Given the description of an element on the screen output the (x, y) to click on. 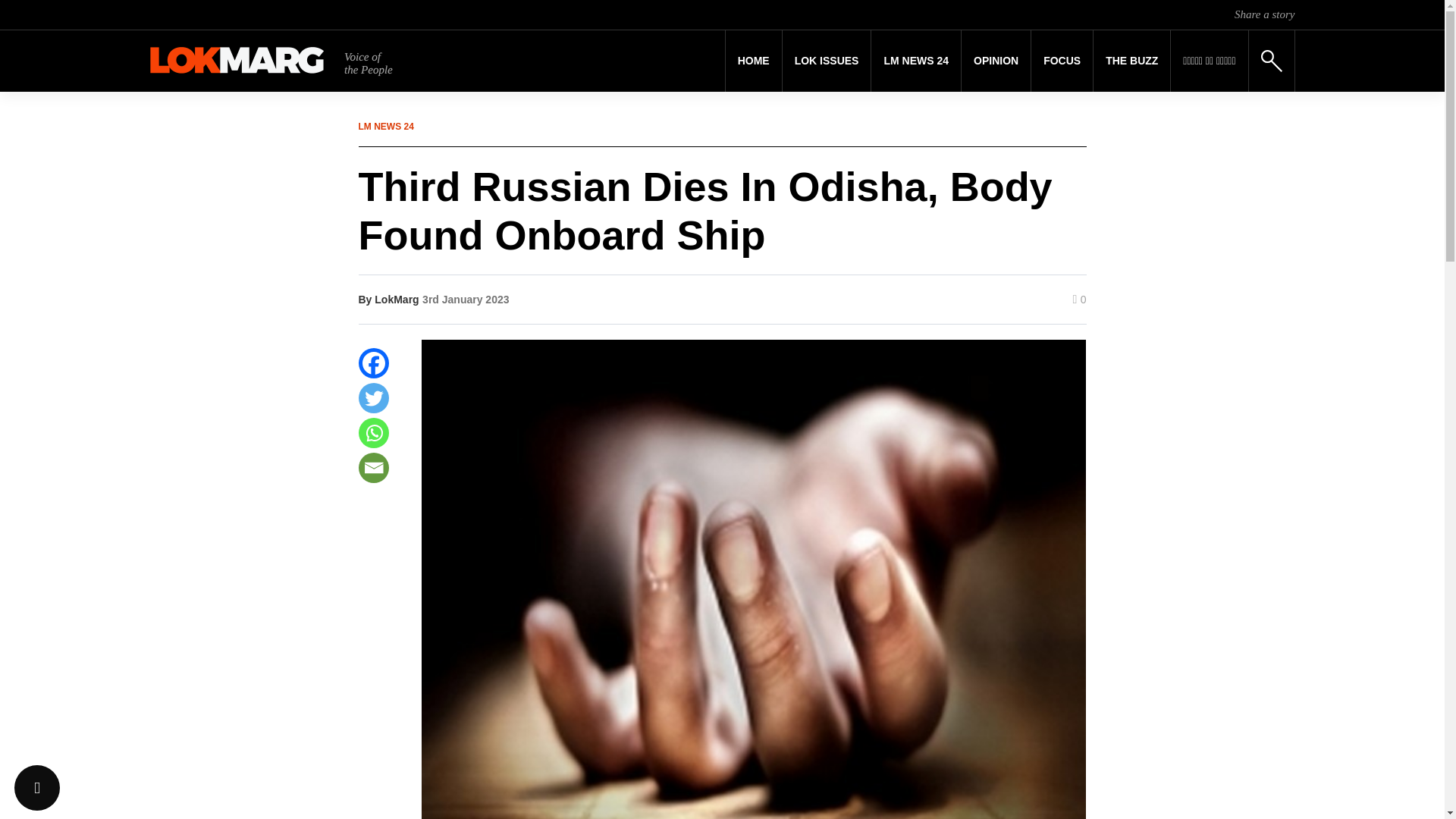
Share a story (1264, 14)
FOCUS (1061, 60)
Home (753, 60)
THE BUZZ (1131, 60)
THE BUZZ (1131, 60)
Whatsapp (373, 432)
Twitter (373, 398)
HOME (753, 60)
LM News 24 (915, 60)
LokMarg (396, 299)
